Given the description of an element on the screen output the (x, y) to click on. 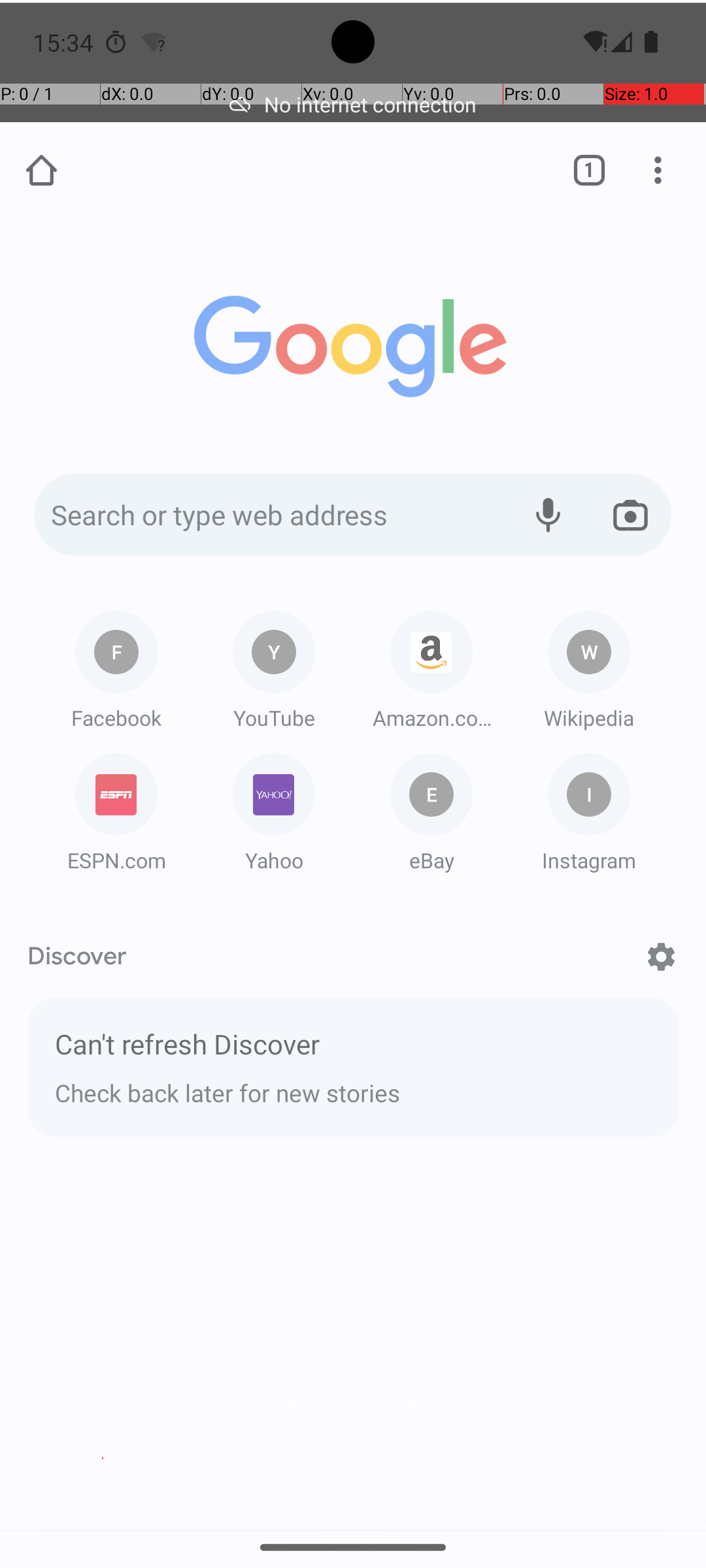
Can't refresh Discover Element type: android.widget.TextView (352, 1047)
Check back later for new stories Element type: android.widget.TextView (352, 1089)
